Given the description of an element on the screen output the (x, y) to click on. 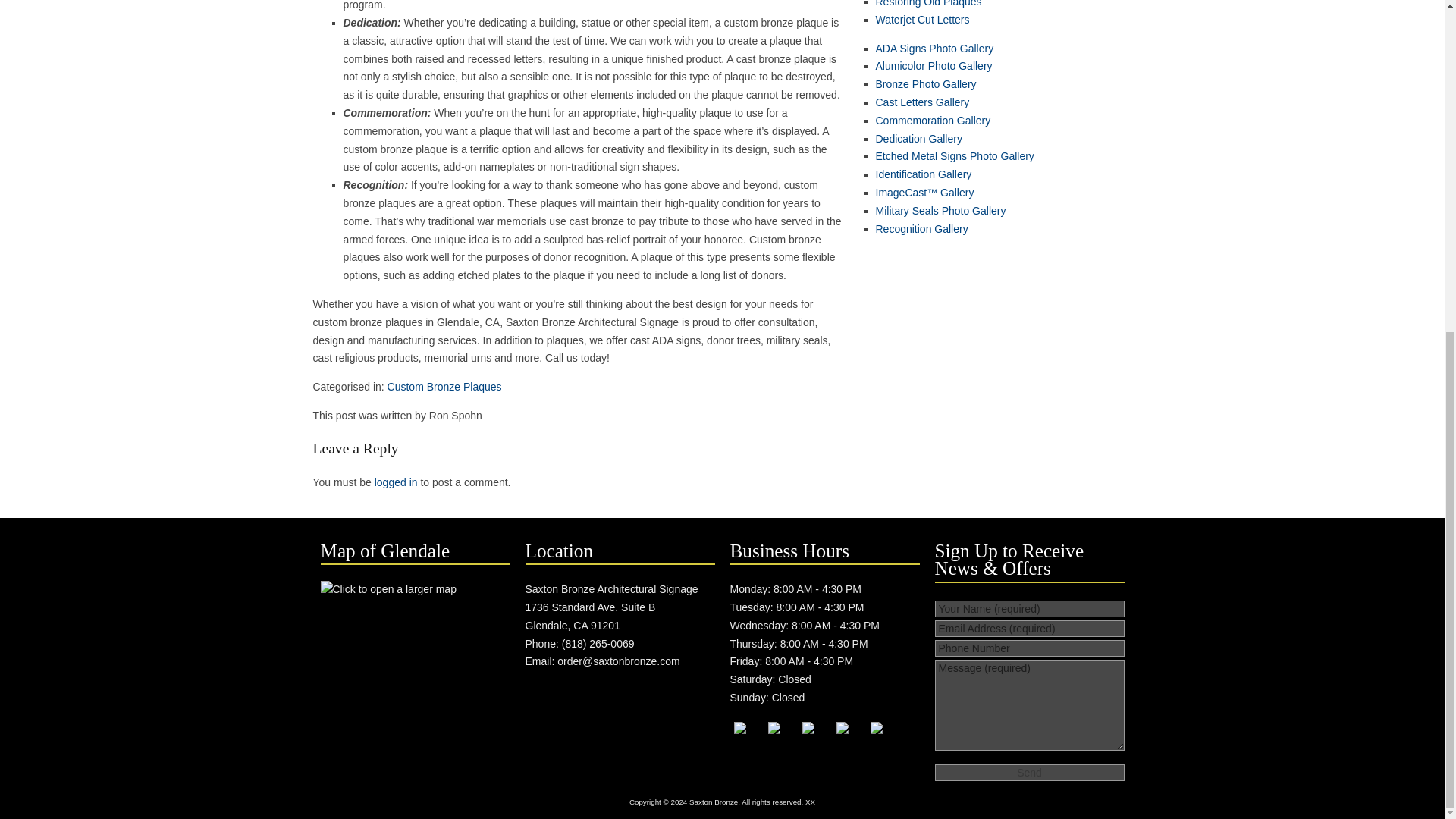
Send (1029, 772)
Facebook (748, 736)
Click to open a larger map (387, 589)
Instagram (850, 736)
SOCIALICON (885, 736)
YouTube (782, 736)
LinkedIn (817, 736)
